Given the description of an element on the screen output the (x, y) to click on. 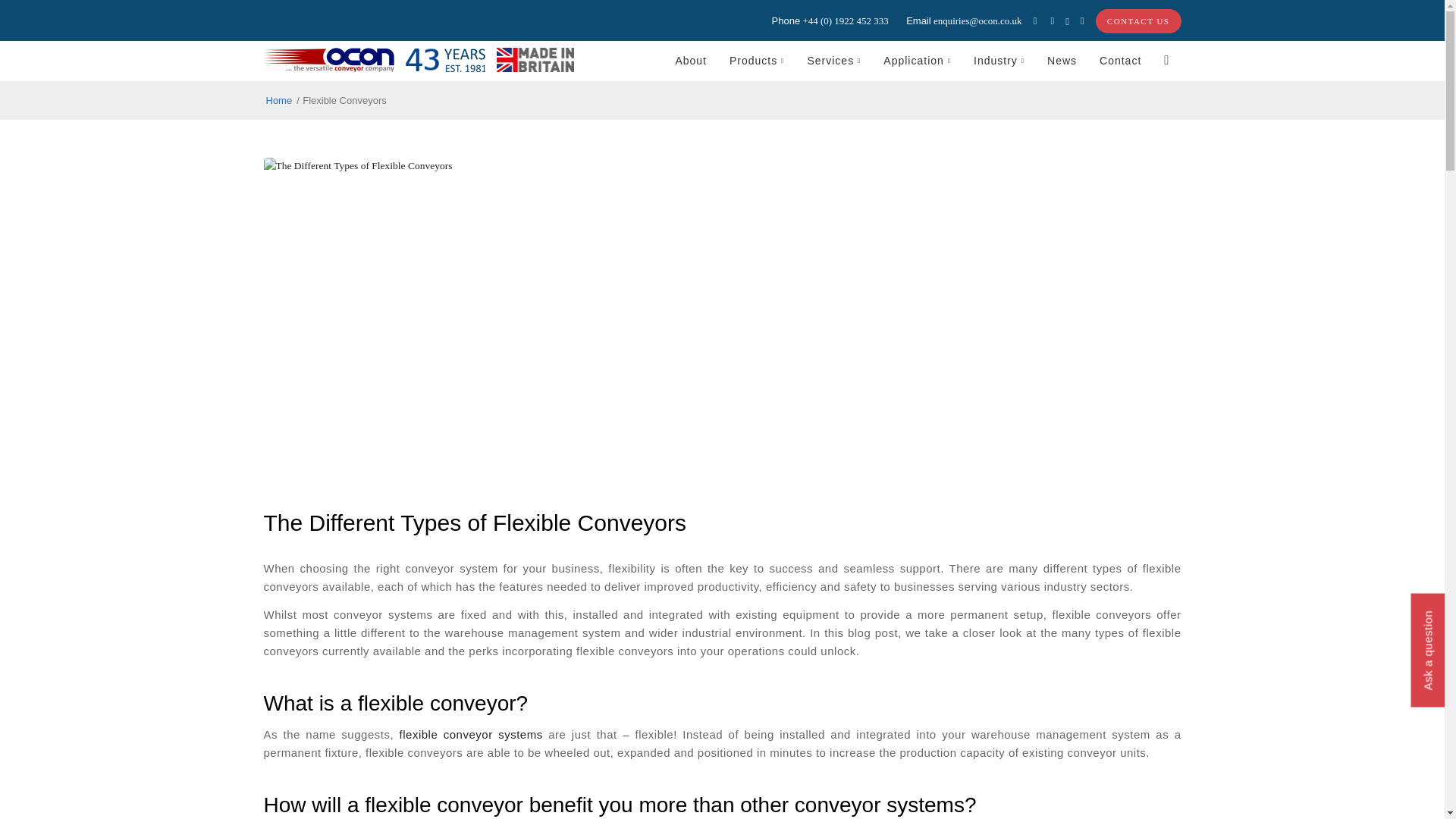
Application (917, 60)
About (690, 60)
ocon-logo (328, 60)
ocon-logo (328, 59)
Permanent Link: The Different Types of Flexible Conveyors (475, 522)
Services (833, 60)
Contact (1120, 60)
Products (755, 60)
News (1061, 60)
Ocon Conveyors (279, 100)
